Given the description of an element on the screen output the (x, y) to click on. 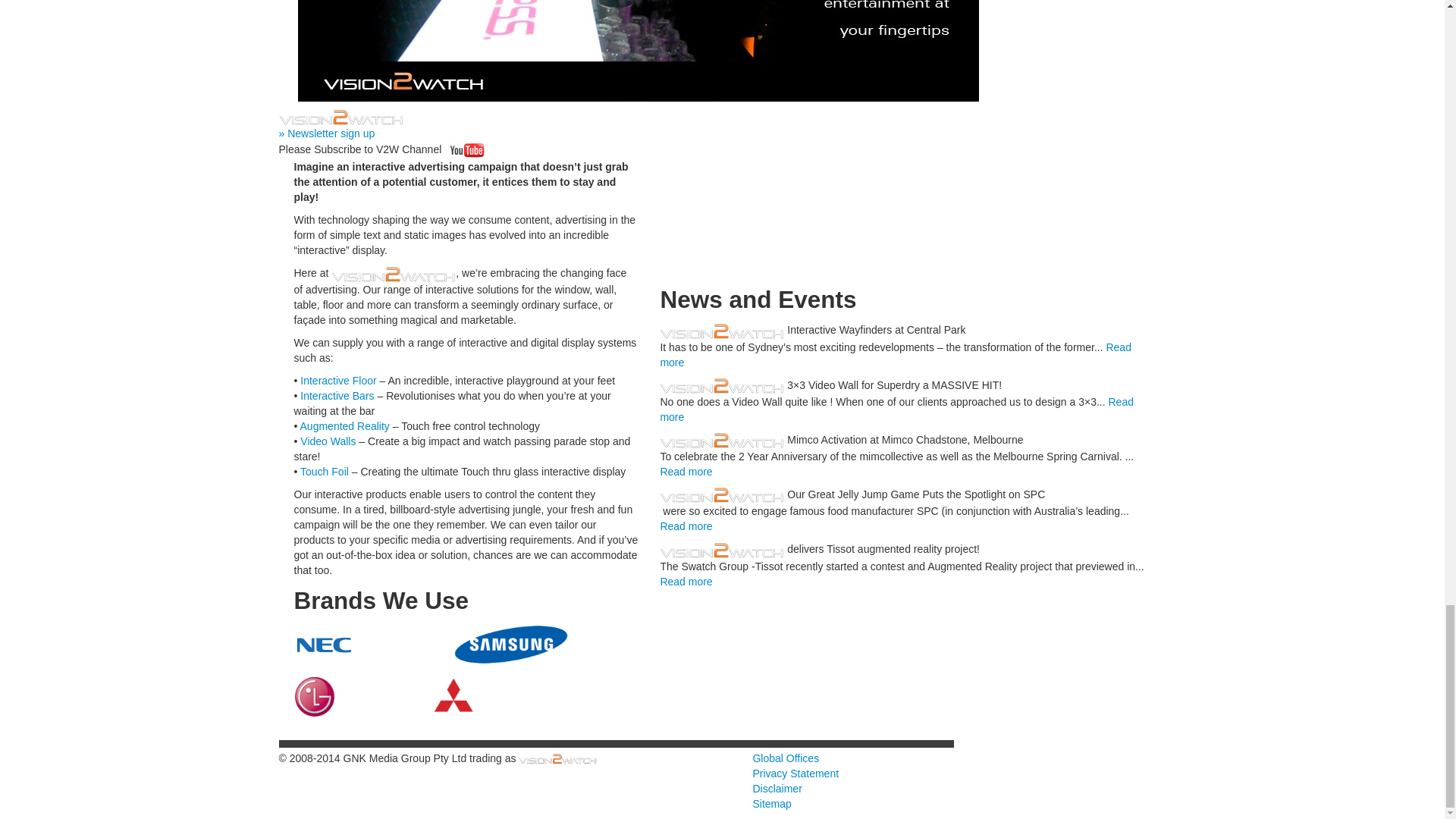
Touch Foil (324, 471)
Video Walls (327, 440)
Augmented Reality (344, 426)
